Given the description of an element on the screen output the (x, y) to click on. 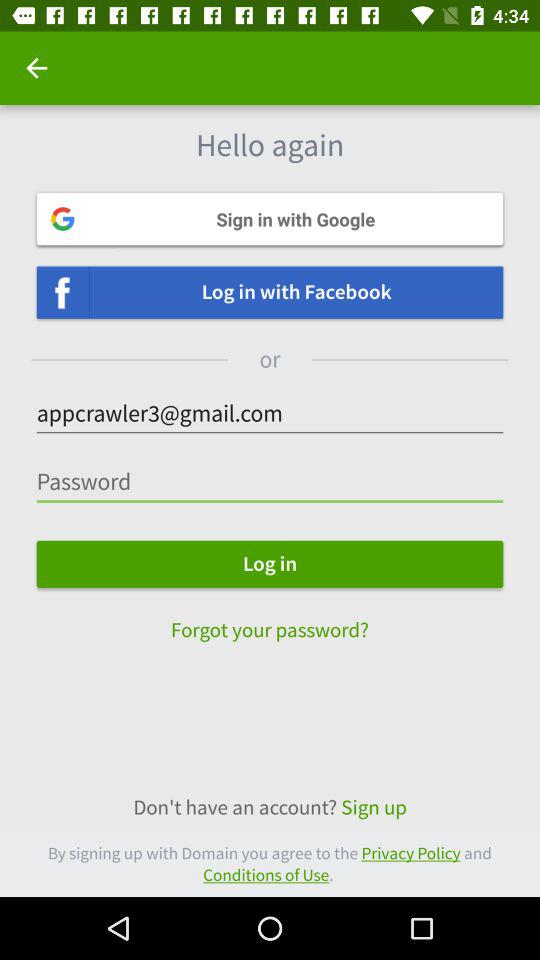
turn off the icon below the appcrawler3@gmail.com (269, 482)
